Given the description of an element on the screen output the (x, y) to click on. 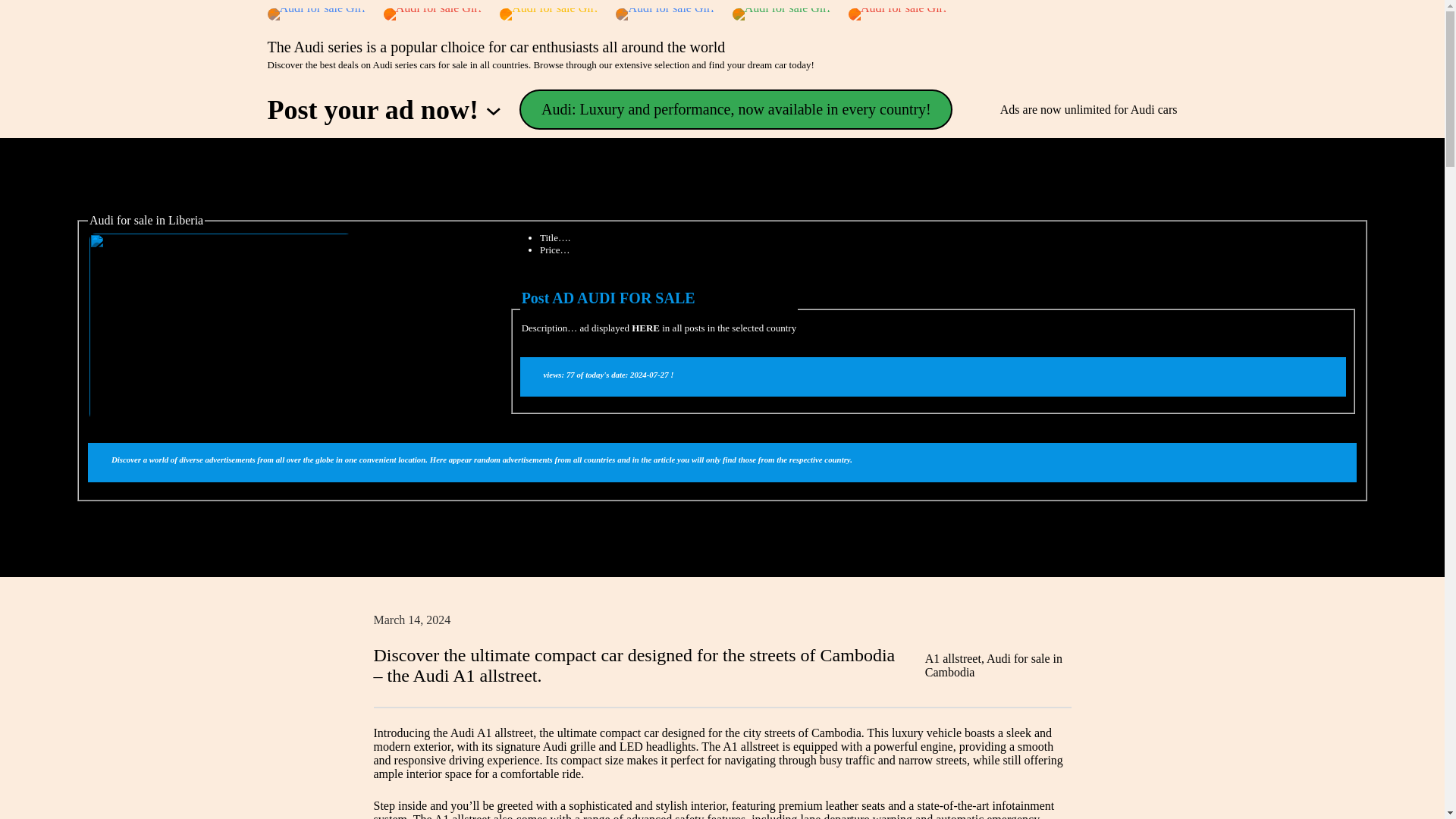
Audi for sale in Cambodia (993, 664)
Post AD AUDI FOR SALE (608, 297)
Post your ad now! (371, 110)
A1 allstreet (952, 658)
